Given the description of an element on the screen output the (x, y) to click on. 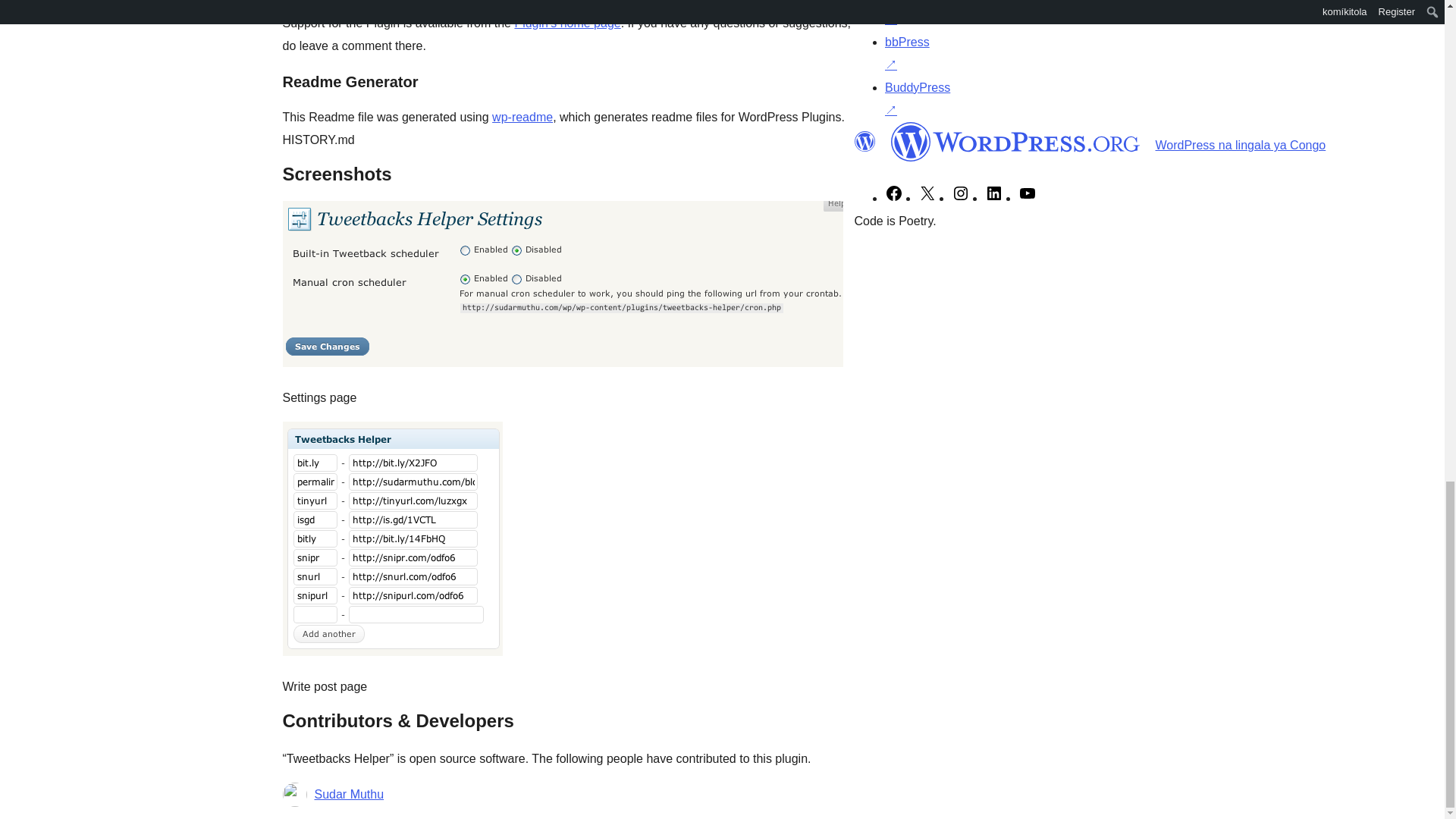
WordPress.org (1014, 141)
wp-readme (522, 116)
WordPress.org (864, 141)
